Given the description of an element on the screen output the (x, y) to click on. 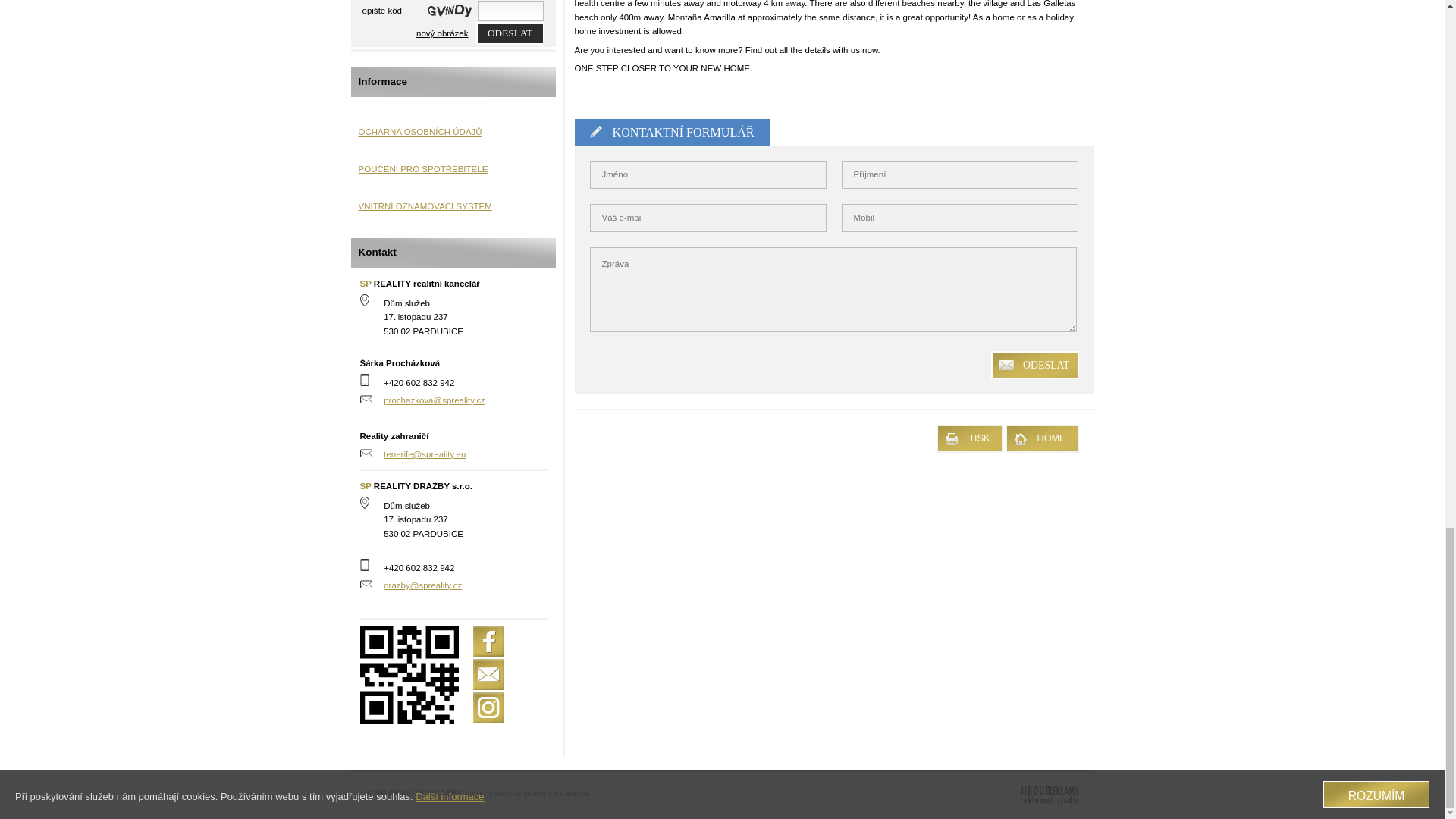
instagram (488, 707)
facebook (488, 640)
ODESLAT (510, 33)
